Given the description of an element on the screen output the (x, y) to click on. 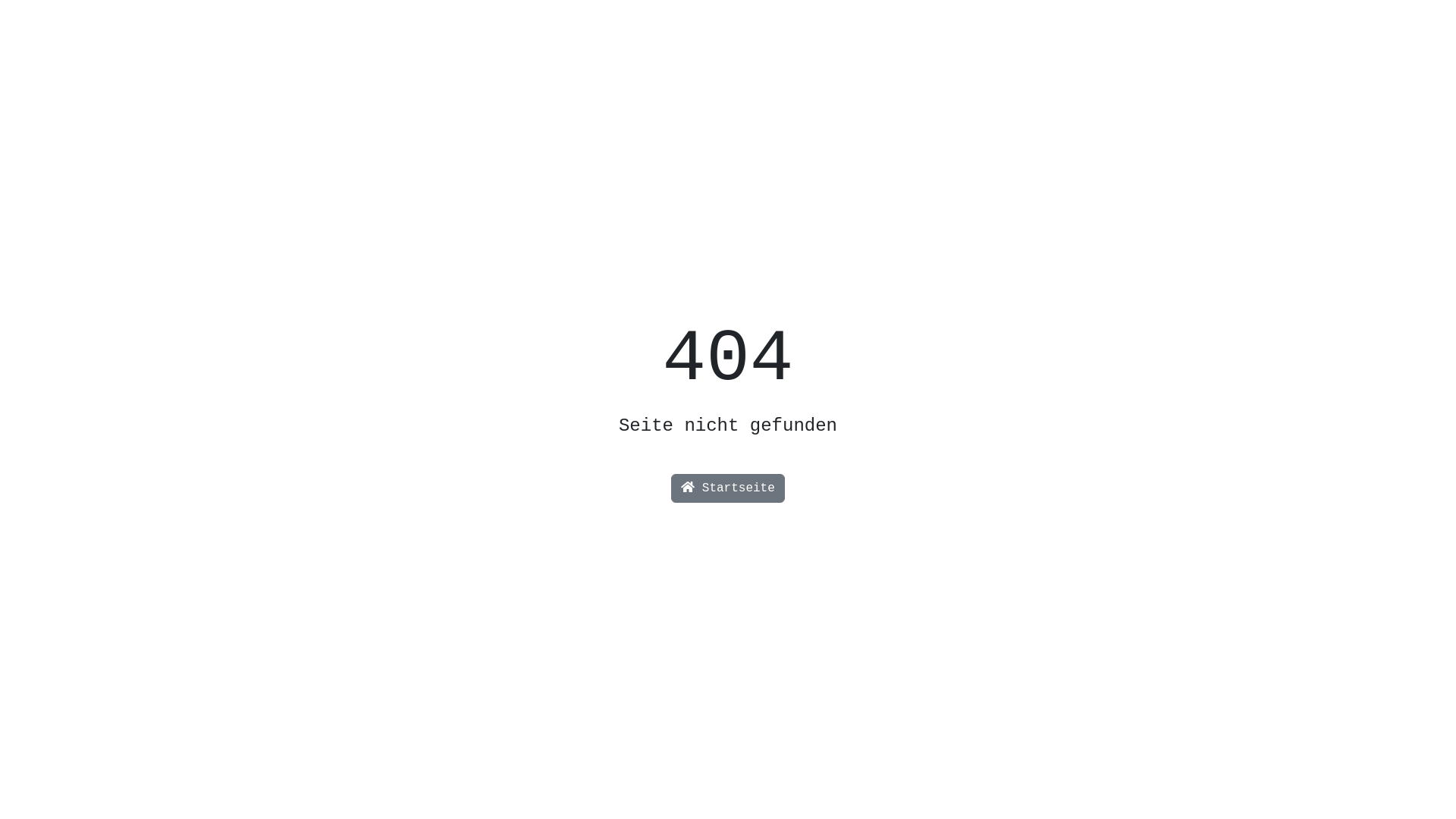
Startseite Element type: text (727, 487)
